Given the description of an element on the screen output the (x, y) to click on. 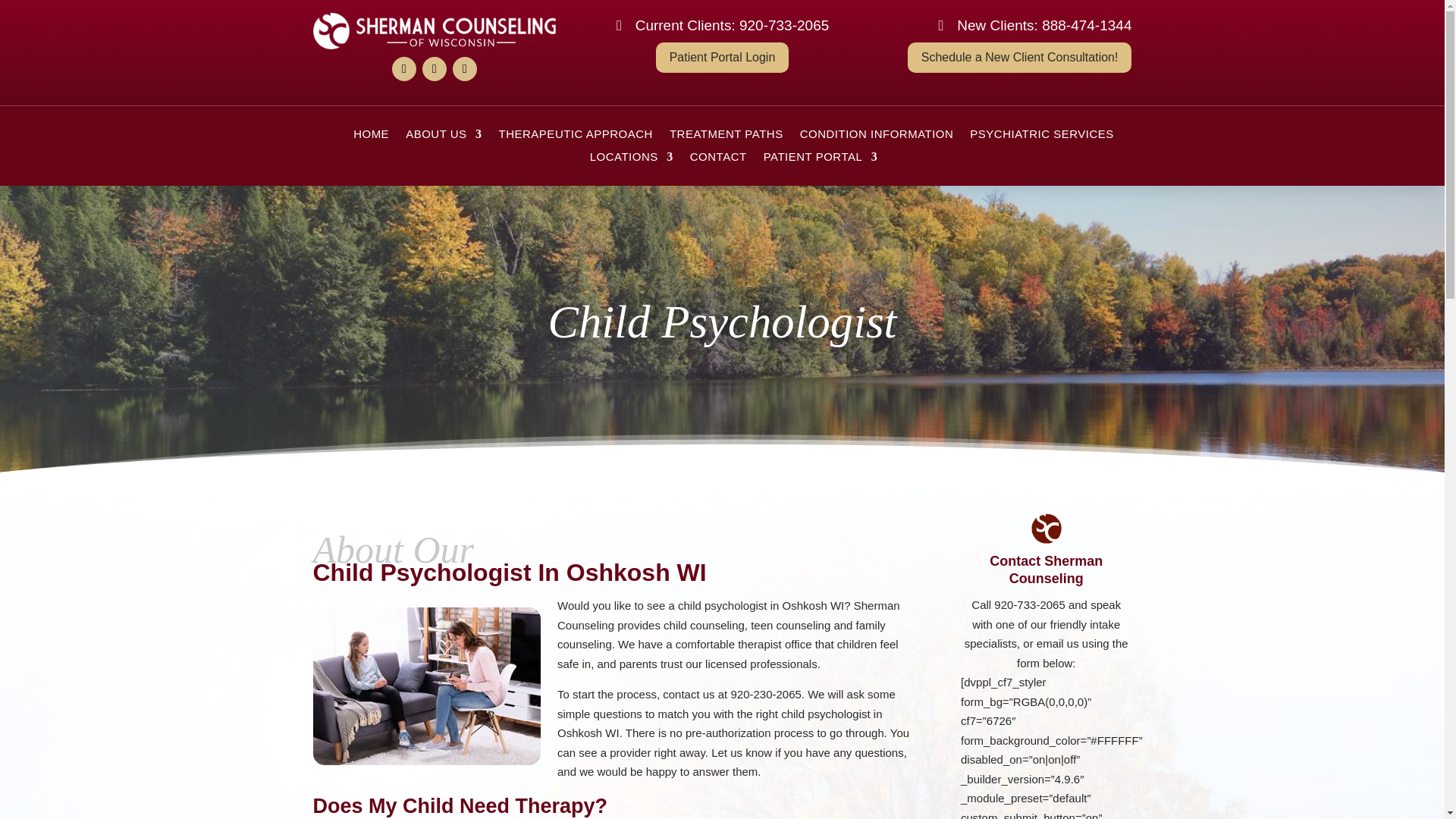
PATIENT PORTAL (819, 159)
THERAPEUTIC APPROACH (575, 136)
Patient Portal Login (722, 57)
HOME (370, 136)
Current Clients: 920-733-2065 (718, 25)
TREATMENT PATHS (726, 136)
Follow on LinkedIn (434, 68)
Sherman Counseling of Wisconsin (433, 31)
Schedule a New Client Consultation! (1019, 57)
PSYCHIATRIC SERVICES (1041, 136)
